Given the description of an element on the screen output the (x, y) to click on. 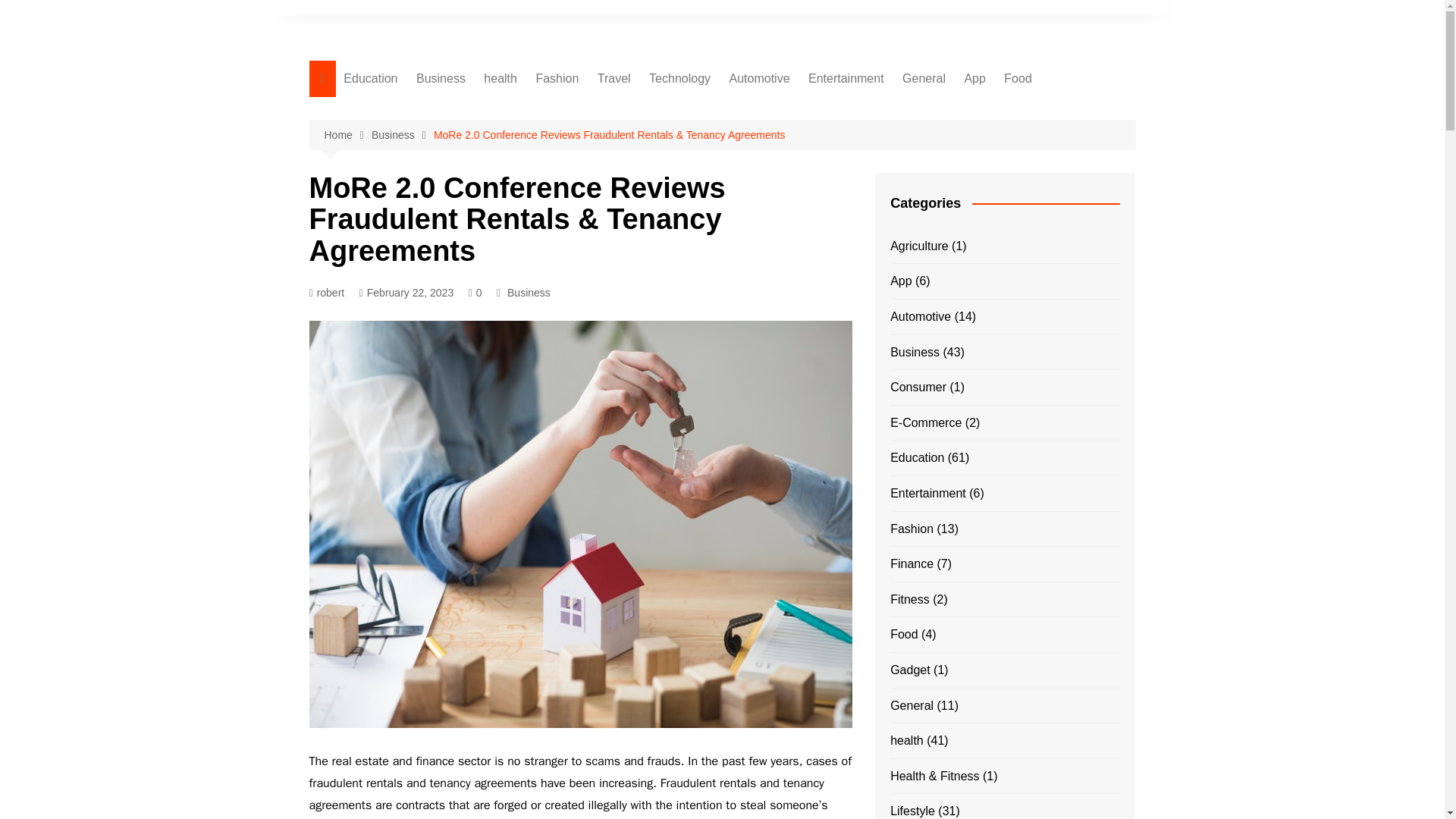
health (500, 78)
Education (370, 78)
App (974, 78)
Business (402, 135)
Technology (679, 78)
February 22, 2023 (406, 293)
Entertainment (845, 78)
General (924, 78)
Automotive (758, 78)
Food (1017, 78)
